Given the description of an element on the screen output the (x, y) to click on. 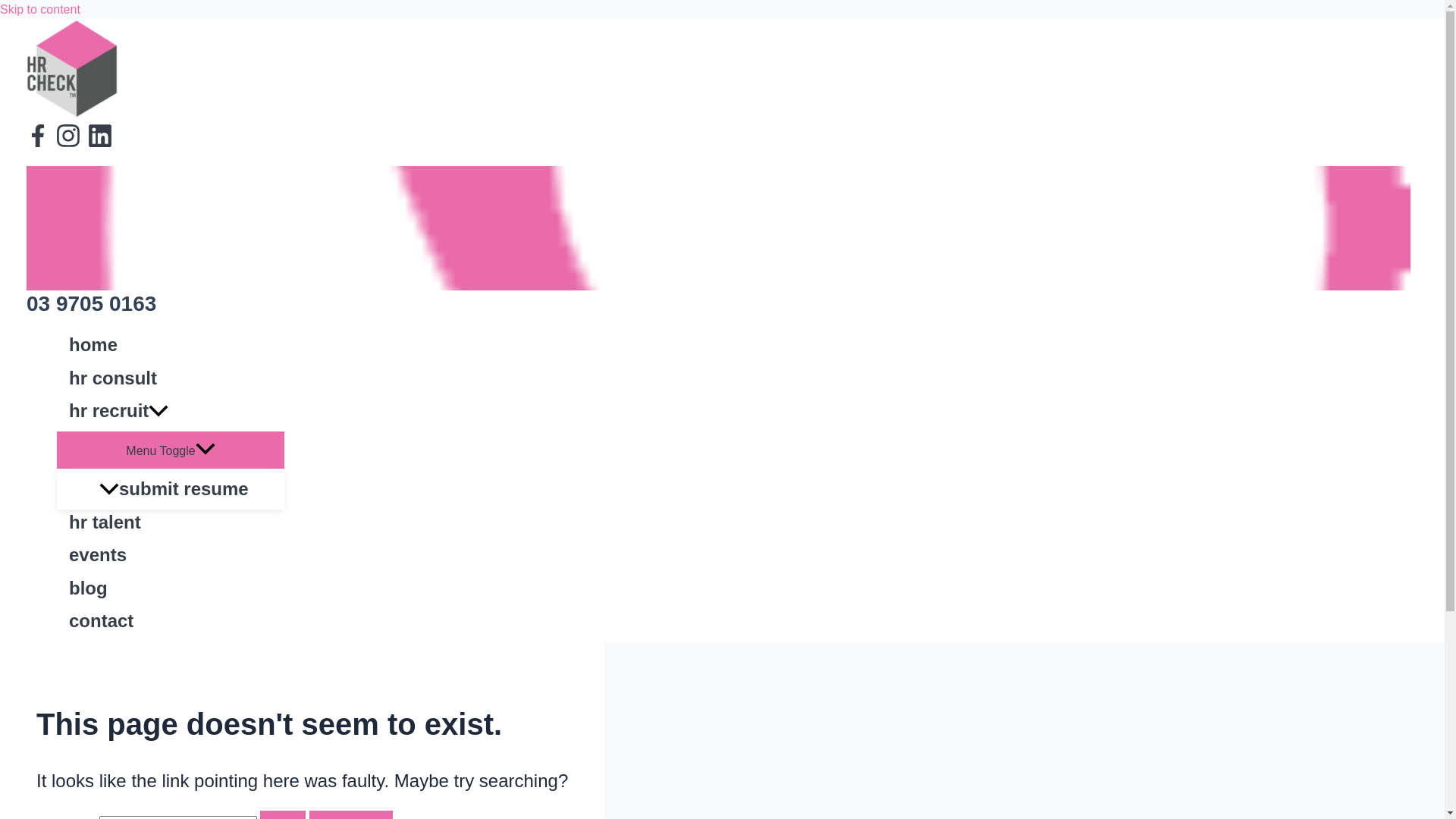
hr consult Element type: text (170, 381)
events Element type: text (170, 558)
hr talent Element type: text (170, 525)
home Element type: text (170, 348)
Skip to content Element type: text (40, 9)
submit resume Element type: text (185, 488)
03 9705 0163 Element type: text (91, 303)
Menu Toggle Element type: text (170, 449)
hr recruit Element type: text (170, 414)
blog Element type: text (170, 591)
contact Element type: text (170, 624)
